Given the description of an element on the screen output the (x, y) to click on. 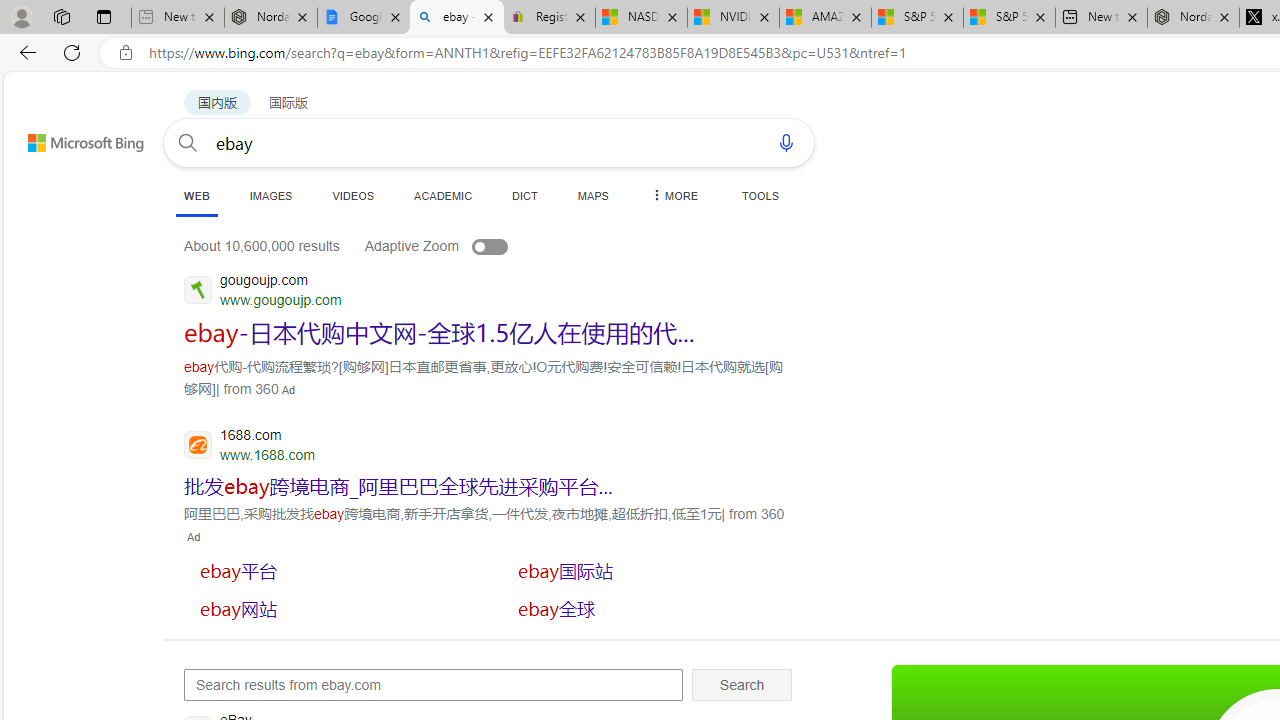
TOOLS (760, 195)
SERP,5710 (398, 485)
Dropdown Menu (673, 195)
Search results from ebay.com (433, 684)
MAPS (592, 195)
ACADEMIC (443, 195)
